Given the description of an element on the screen output the (x, y) to click on. 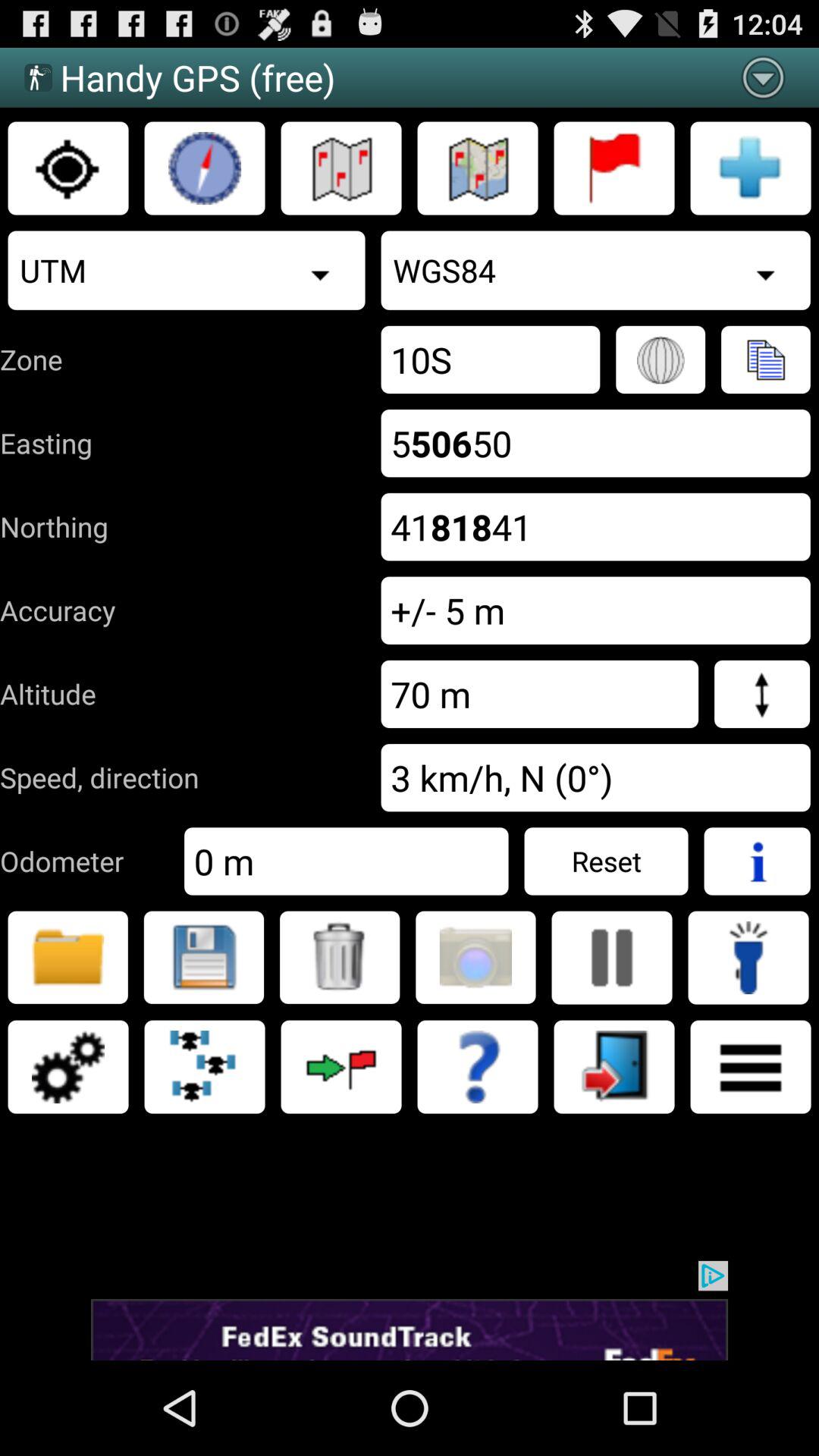
select pause (611, 957)
